Given the description of an element on the screen output the (x, y) to click on. 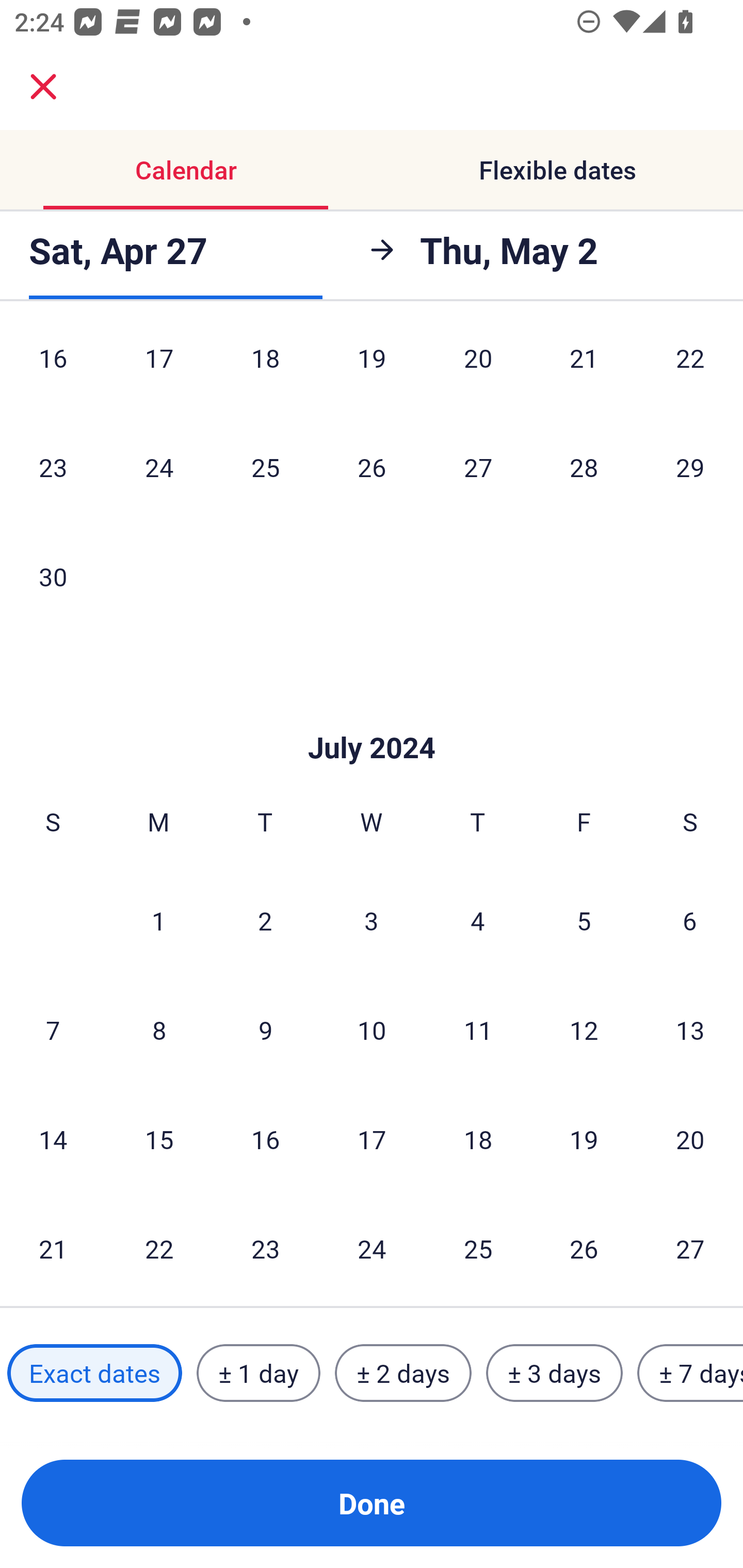
close. (43, 86)
Flexible dates (557, 170)
16 Sunday, June 16, 2024 (53, 370)
17 Monday, June 17, 2024 (159, 370)
18 Tuesday, June 18, 2024 (265, 370)
19 Wednesday, June 19, 2024 (371, 370)
20 Thursday, June 20, 2024 (477, 370)
21 Friday, June 21, 2024 (584, 370)
22 Saturday, June 22, 2024 (690, 370)
23 Sunday, June 23, 2024 (53, 466)
24 Monday, June 24, 2024 (159, 466)
25 Tuesday, June 25, 2024 (265, 466)
26 Wednesday, June 26, 2024 (371, 466)
27 Thursday, June 27, 2024 (477, 466)
28 Friday, June 28, 2024 (584, 466)
29 Saturday, June 29, 2024 (690, 466)
30 Sunday, June 30, 2024 (53, 575)
Skip to Done (371, 717)
1 Monday, July 1, 2024 (158, 920)
2 Tuesday, July 2, 2024 (264, 920)
3 Wednesday, July 3, 2024 (371, 920)
4 Thursday, July 4, 2024 (477, 920)
5 Friday, July 5, 2024 (583, 920)
6 Saturday, July 6, 2024 (689, 920)
7 Sunday, July 7, 2024 (53, 1028)
8 Monday, July 8, 2024 (159, 1028)
9 Tuesday, July 9, 2024 (265, 1028)
10 Wednesday, July 10, 2024 (371, 1028)
11 Thursday, July 11, 2024 (477, 1028)
12 Friday, July 12, 2024 (584, 1028)
13 Saturday, July 13, 2024 (690, 1028)
14 Sunday, July 14, 2024 (53, 1138)
15 Monday, July 15, 2024 (159, 1138)
16 Tuesday, July 16, 2024 (265, 1138)
17 Wednesday, July 17, 2024 (371, 1138)
18 Thursday, July 18, 2024 (477, 1138)
19 Friday, July 19, 2024 (584, 1138)
20 Saturday, July 20, 2024 (690, 1138)
21 Sunday, July 21, 2024 (53, 1247)
22 Monday, July 22, 2024 (159, 1247)
23 Tuesday, July 23, 2024 (265, 1247)
24 Wednesday, July 24, 2024 (371, 1247)
25 Thursday, July 25, 2024 (477, 1247)
26 Friday, July 26, 2024 (584, 1247)
27 Saturday, July 27, 2024 (690, 1247)
Exact dates (94, 1372)
± 1 day (258, 1372)
± 2 days (403, 1372)
± 3 days (553, 1372)
± 7 days (690, 1372)
